Given the description of an element on the screen output the (x, y) to click on. 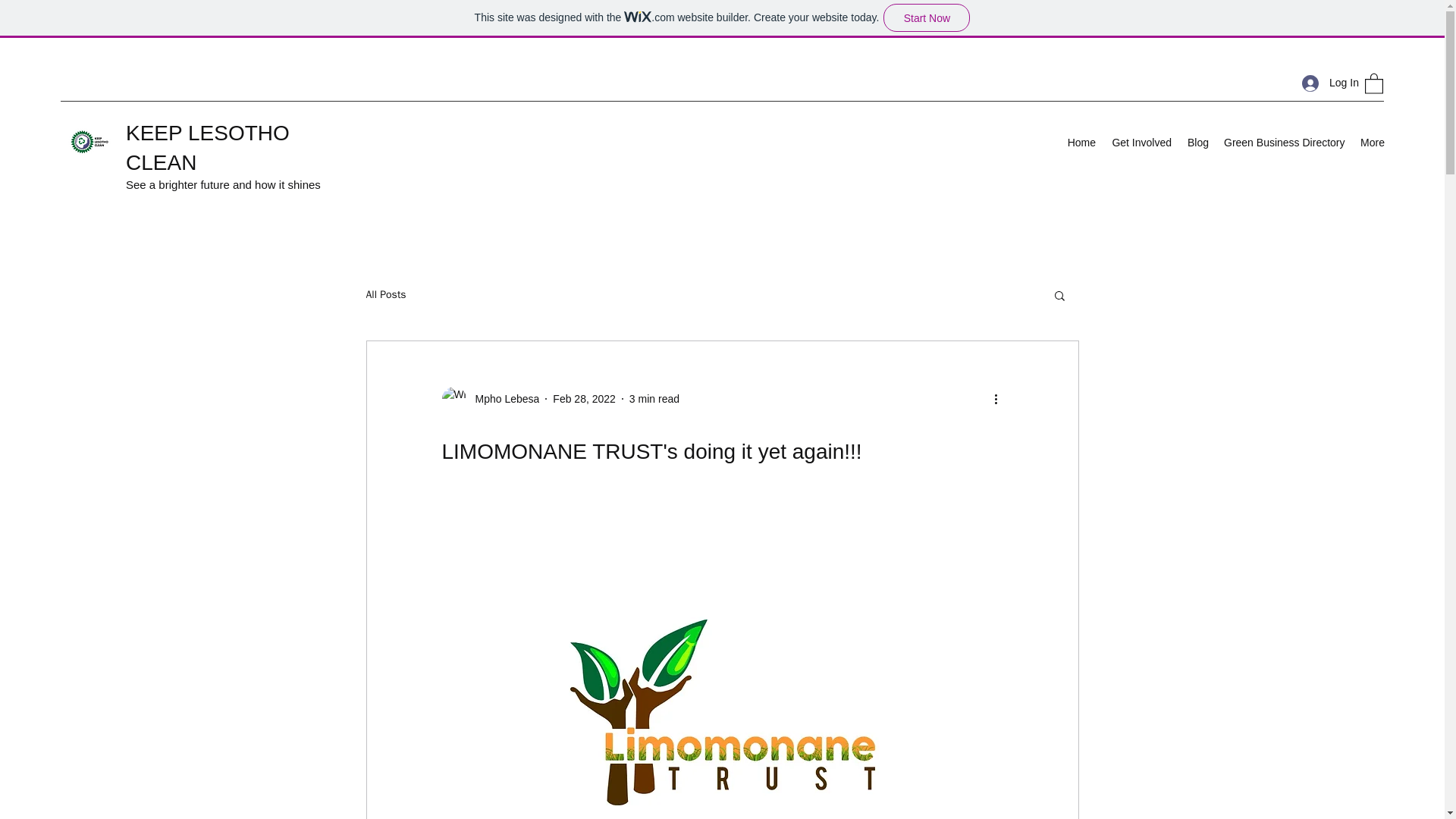
Blog (1197, 142)
Green Business Directory (1283, 142)
Feb 28, 2022 (584, 398)
Home (1081, 142)
All Posts (385, 295)
Log In (1325, 82)
Mpho Lebesa (489, 398)
Mpho Lebesa (501, 399)
KEEP LESOTHO CLEAN (207, 147)
Get Involved (1141, 142)
3 min read (653, 398)
